Given the description of an element on the screen output the (x, y) to click on. 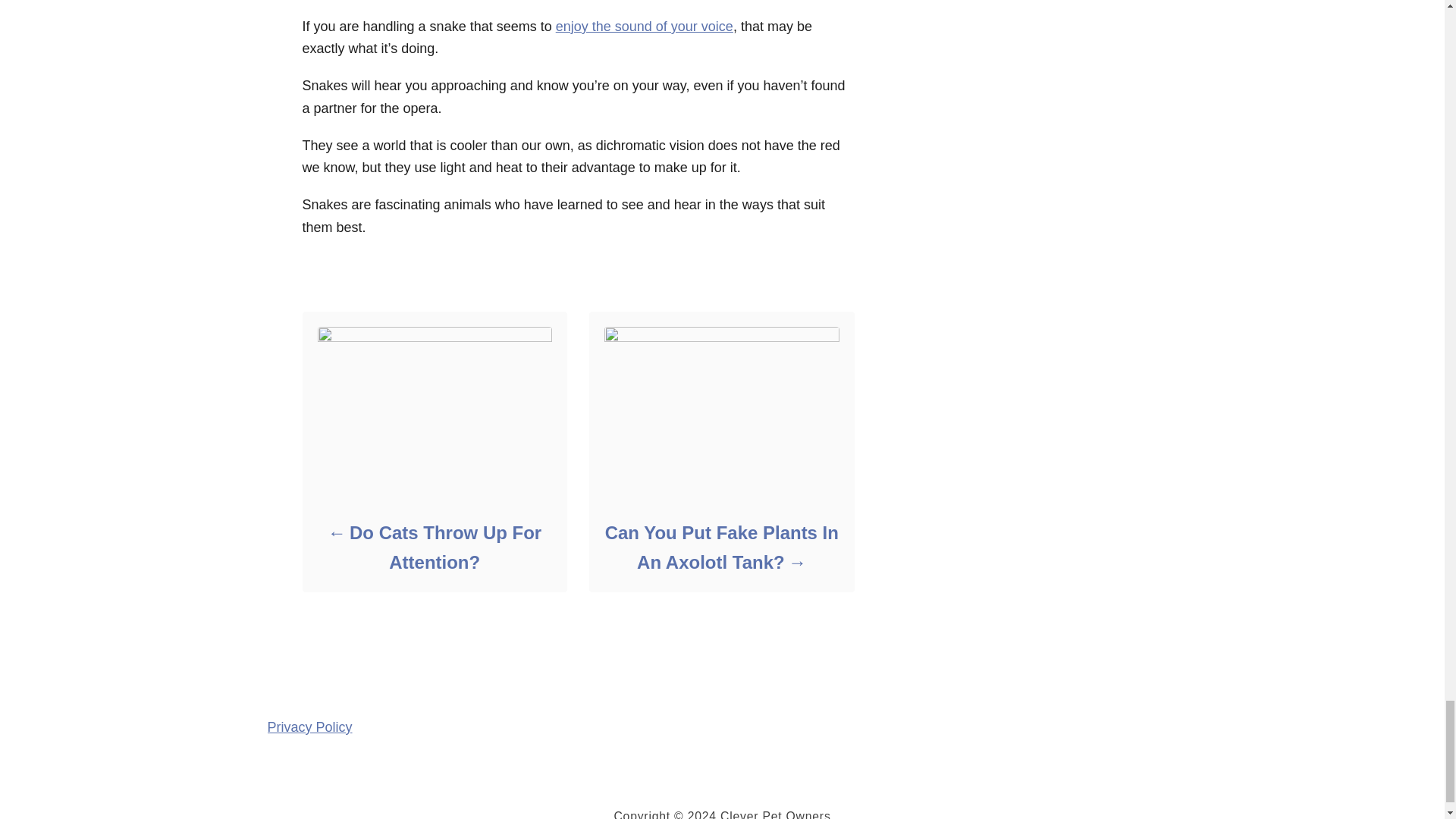
Can You Put Fake Plants In An Axolotl Tank? (721, 547)
enjoy the sound of your voice (644, 26)
Do Cats Throw Up For Attention? (434, 547)
